Given the description of an element on the screen output the (x, y) to click on. 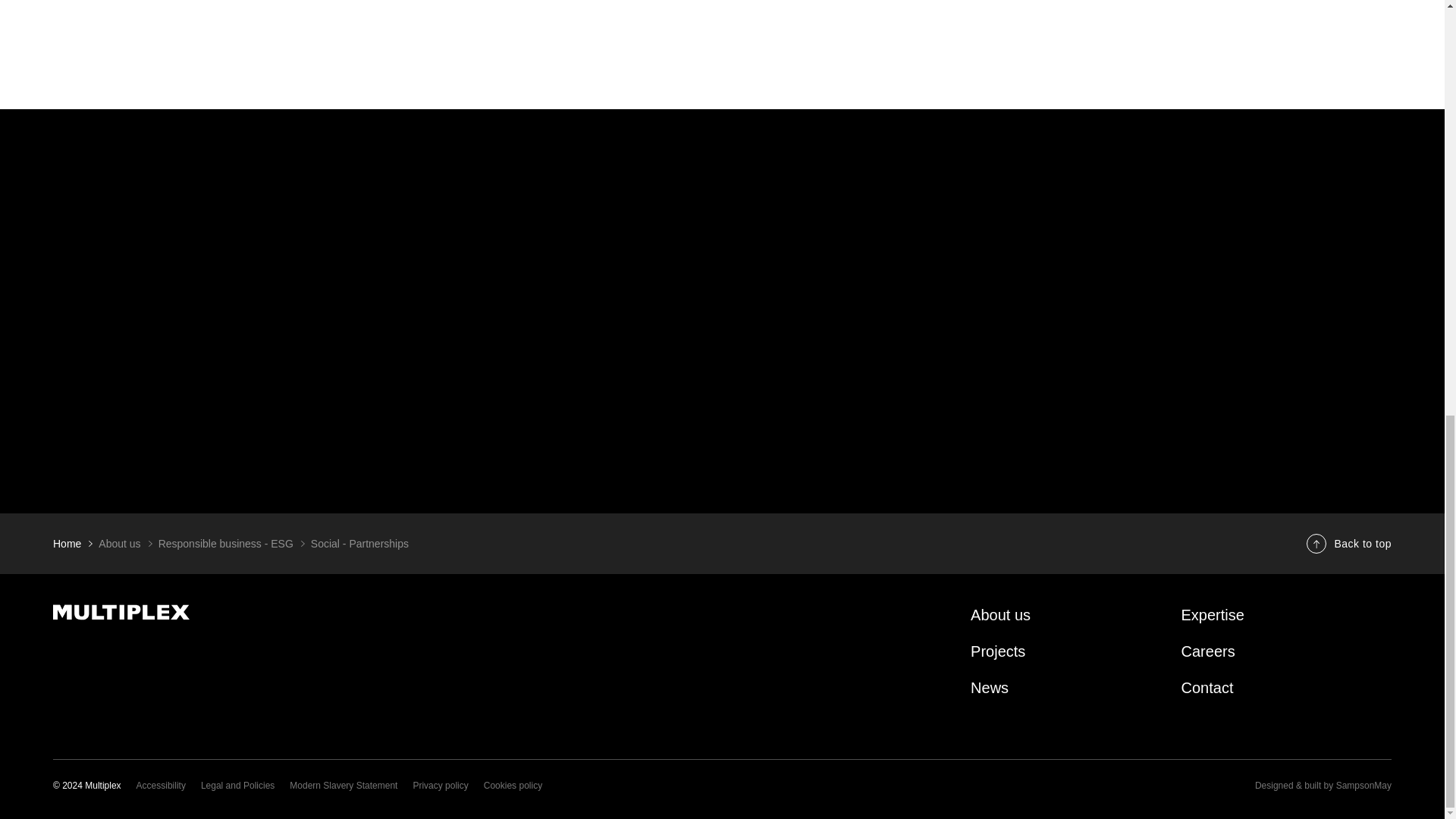
Multiplex - Link to homepage (263, 611)
